Given the description of an element on the screen output the (x, y) to click on. 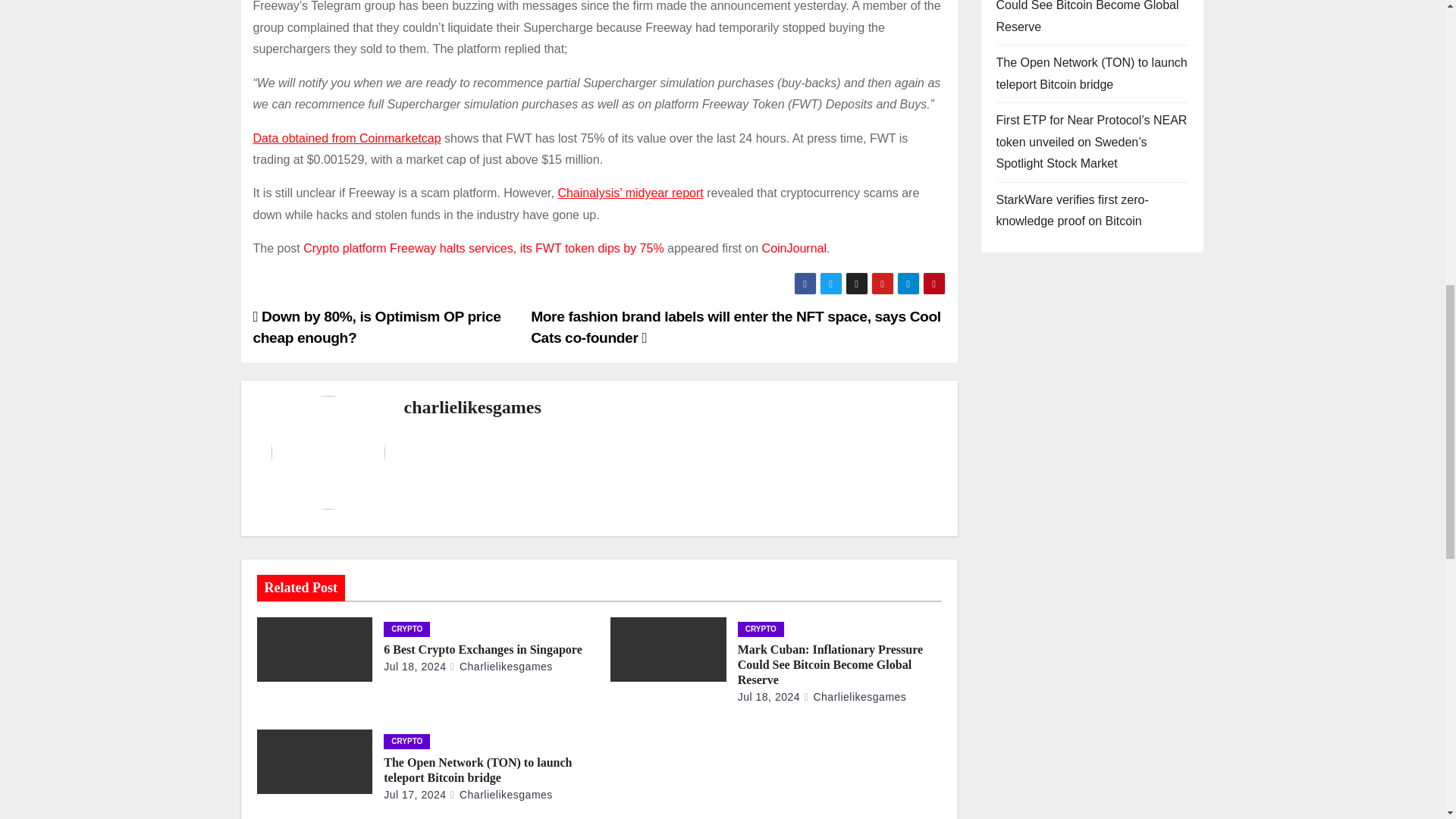
Permalink to: 6 Best Crypto Exchanges in Singapore (483, 649)
Data obtained from Coinmarketcap (347, 137)
